Given the description of an element on the screen output the (x, y) to click on. 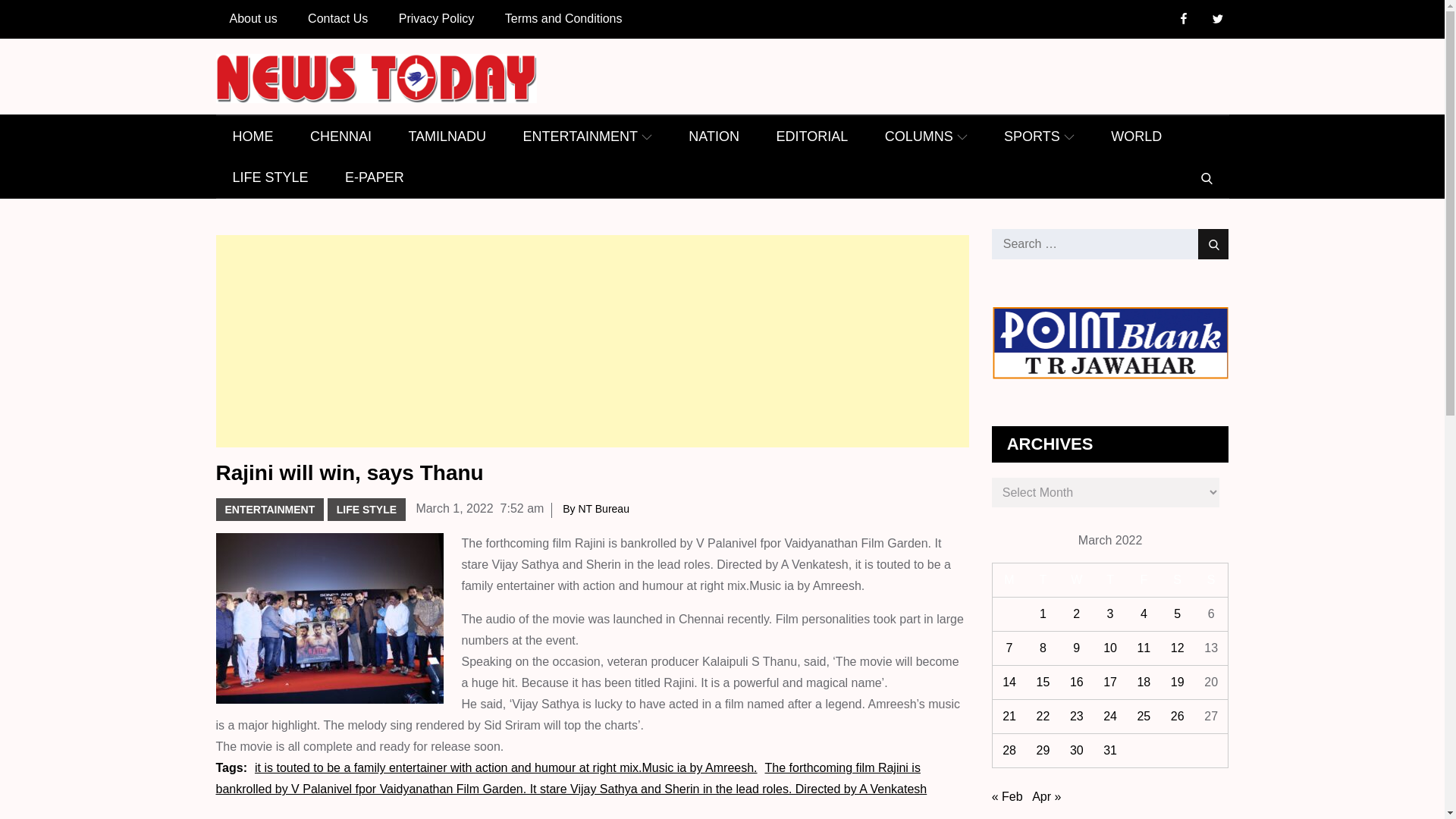
ENTERTAINMENT (587, 136)
NT Bureau (603, 508)
Wednesday (1076, 580)
Twitter (1216, 19)
Monday (1008, 580)
Privacy Policy (436, 18)
Thursday (1109, 580)
E-PAPER (374, 177)
Sunday (1210, 580)
March 1, 2022 (453, 508)
